Given the description of an element on the screen output the (x, y) to click on. 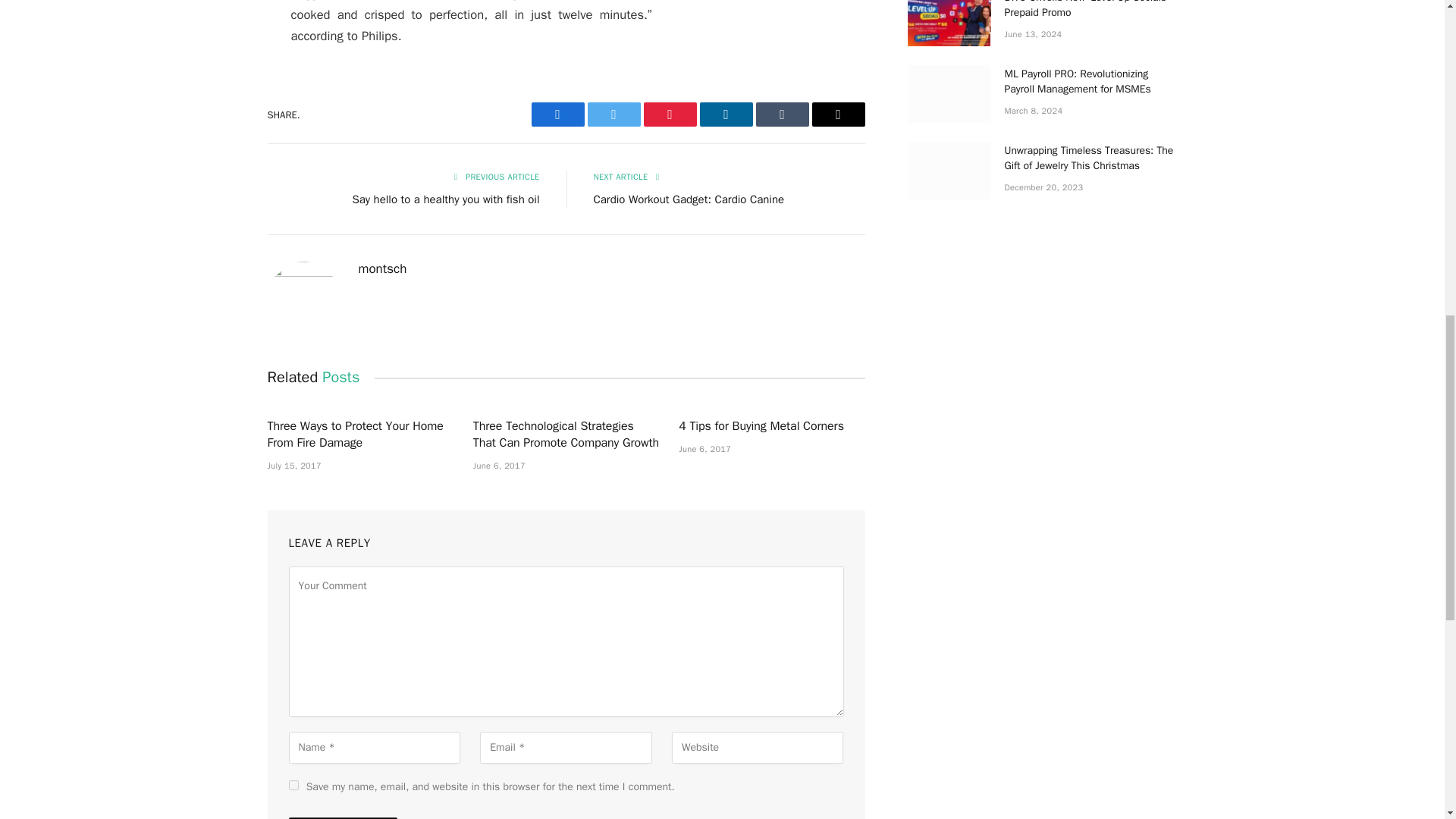
yes (293, 785)
Post Comment (342, 818)
